Given the description of an element on the screen output the (x, y) to click on. 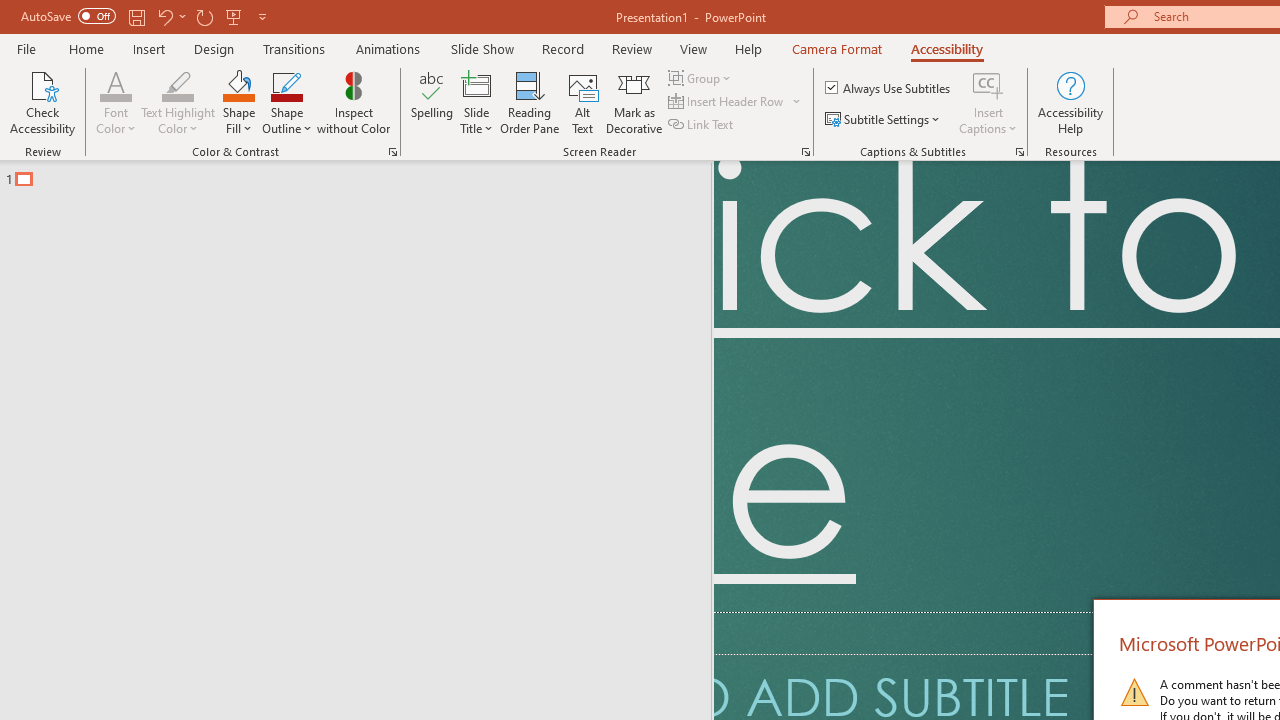
Insert Captions (988, 84)
Insert Captions (988, 102)
Inspect without Color (353, 102)
Subtitle Settings (884, 119)
Warning Icon (1134, 691)
